Given the description of an element on the screen output the (x, y) to click on. 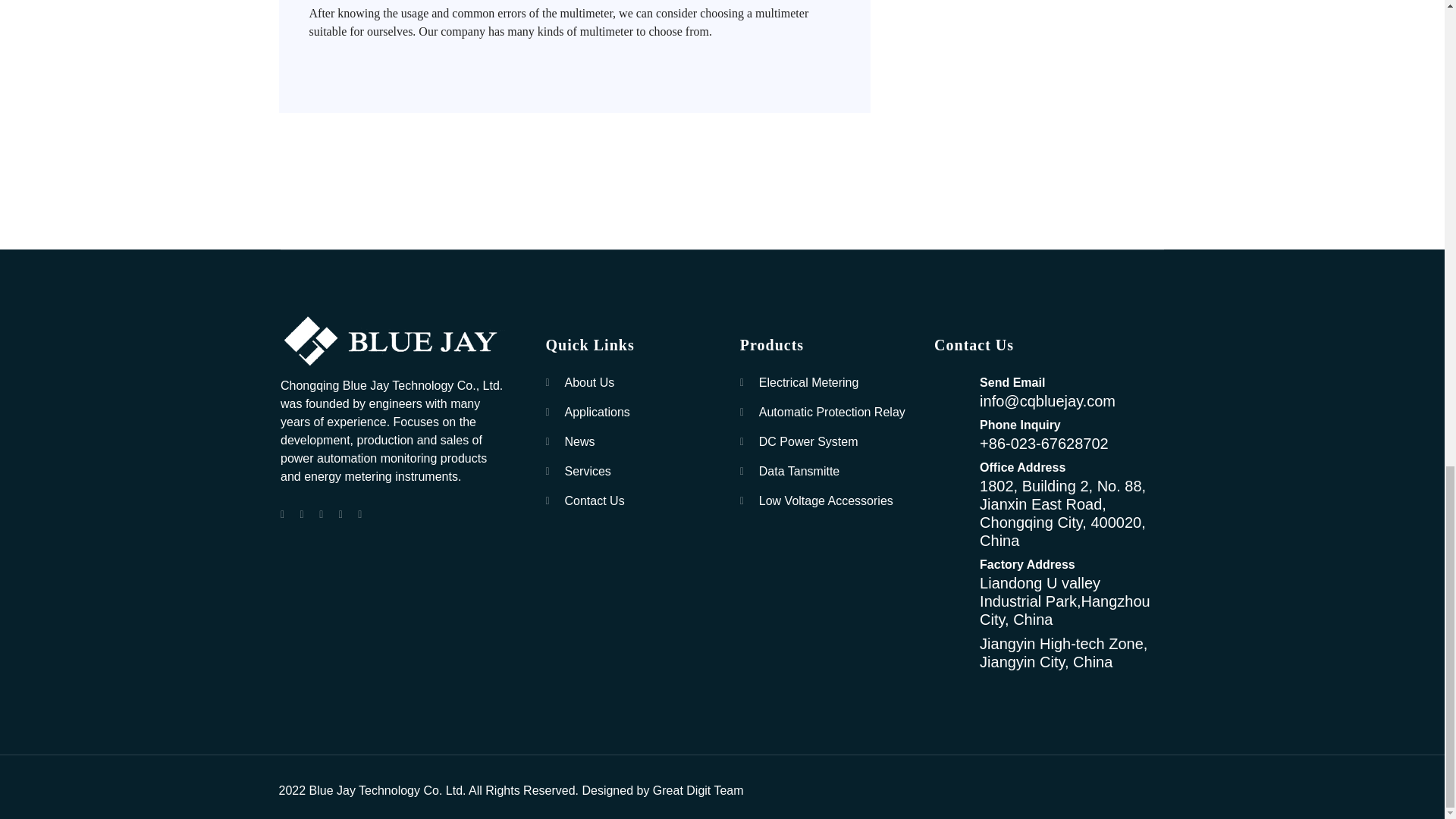
Strnix - Green Energy HTML Template (394, 341)
Strnix - Green Energy HTML Template (394, 342)
